Given the description of an element on the screen output the (x, y) to click on. 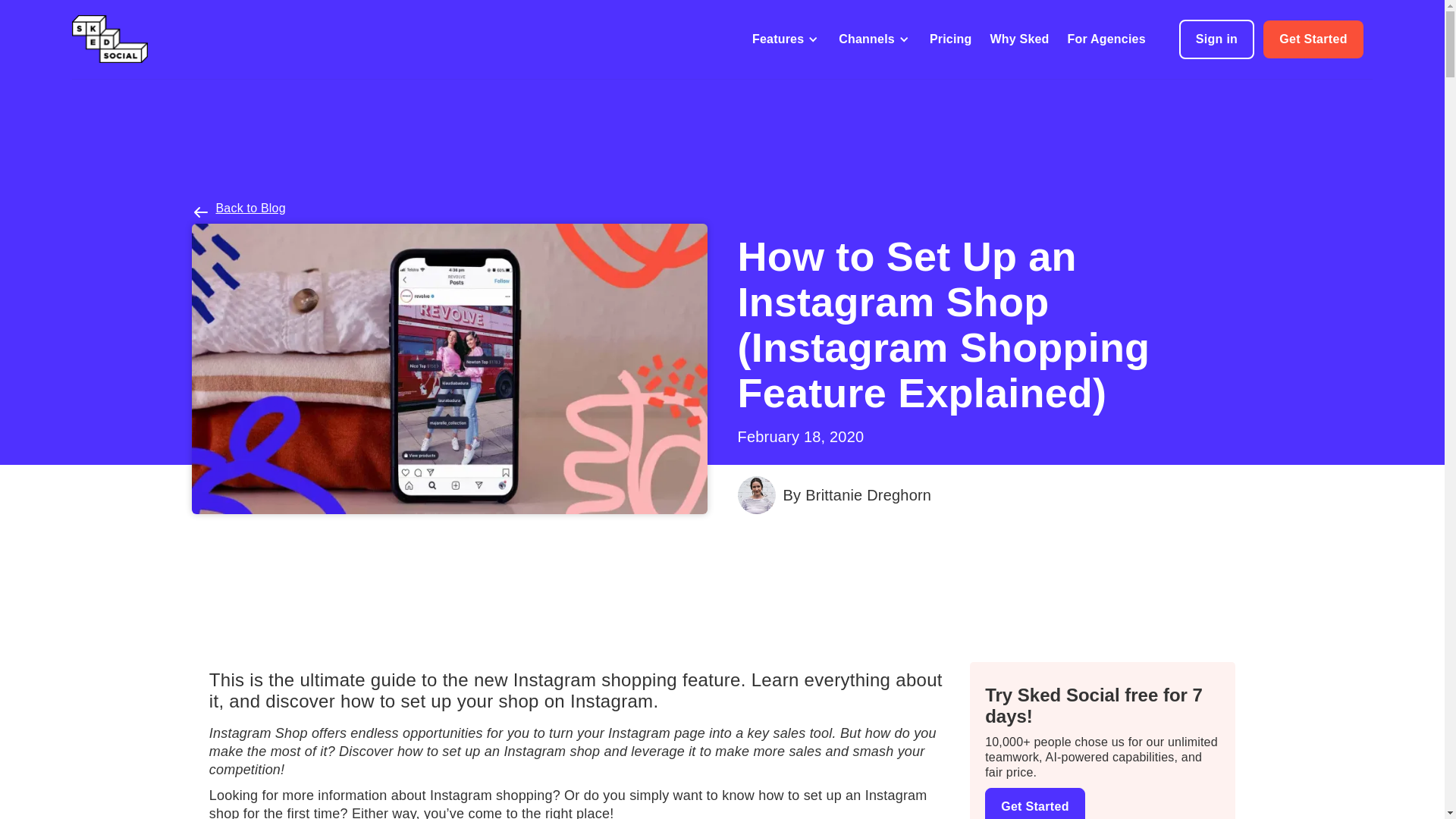
For Agencies (1106, 39)
Back to Blog (250, 208)
Sign in (1216, 38)
Why Sked (1019, 39)
Get Started (1312, 39)
